Given the description of an element on the screen output the (x, y) to click on. 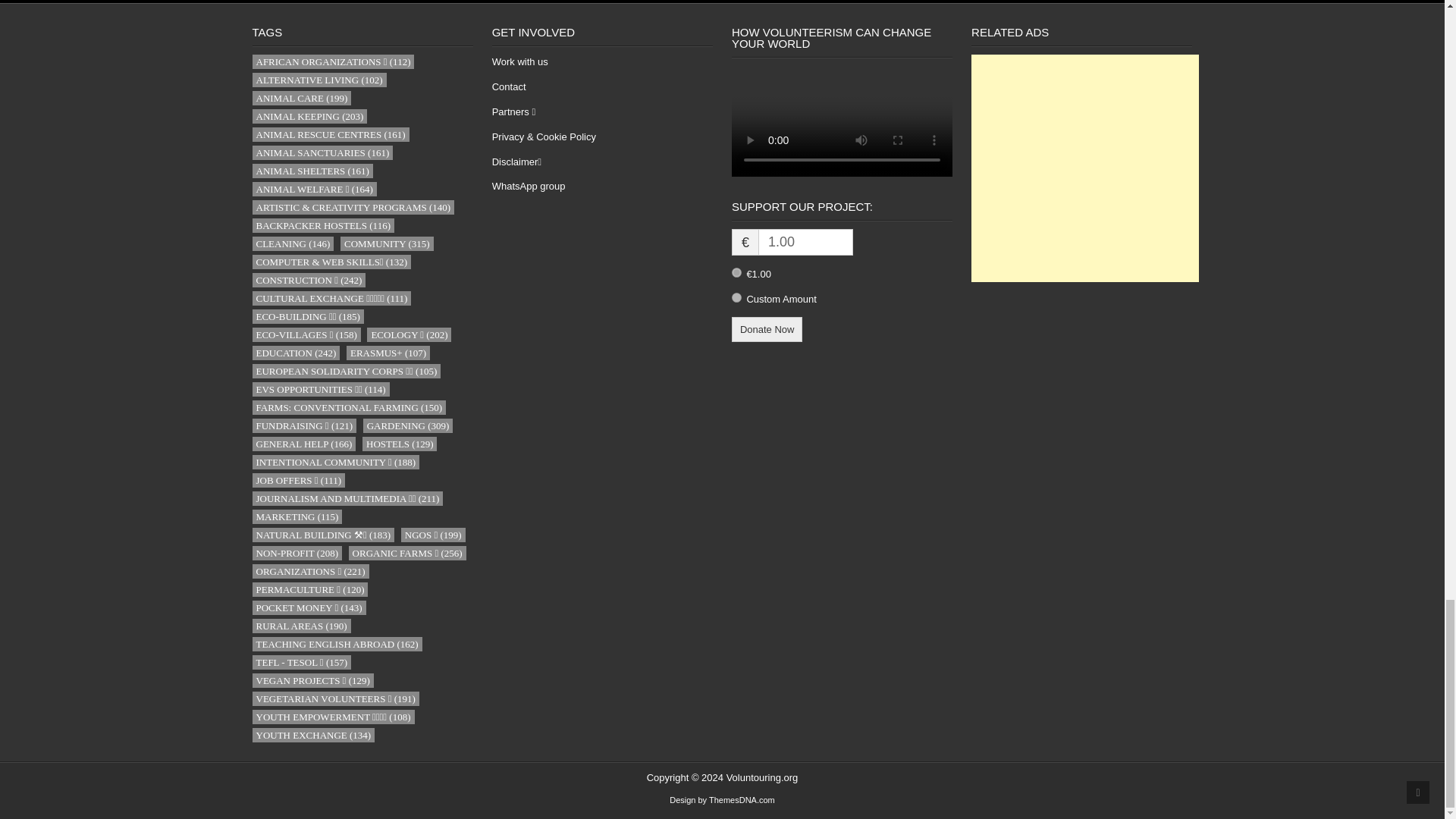
custom (736, 297)
1.00 (805, 242)
1.00 (736, 272)
